Given the description of an element on the screen output the (x, y) to click on. 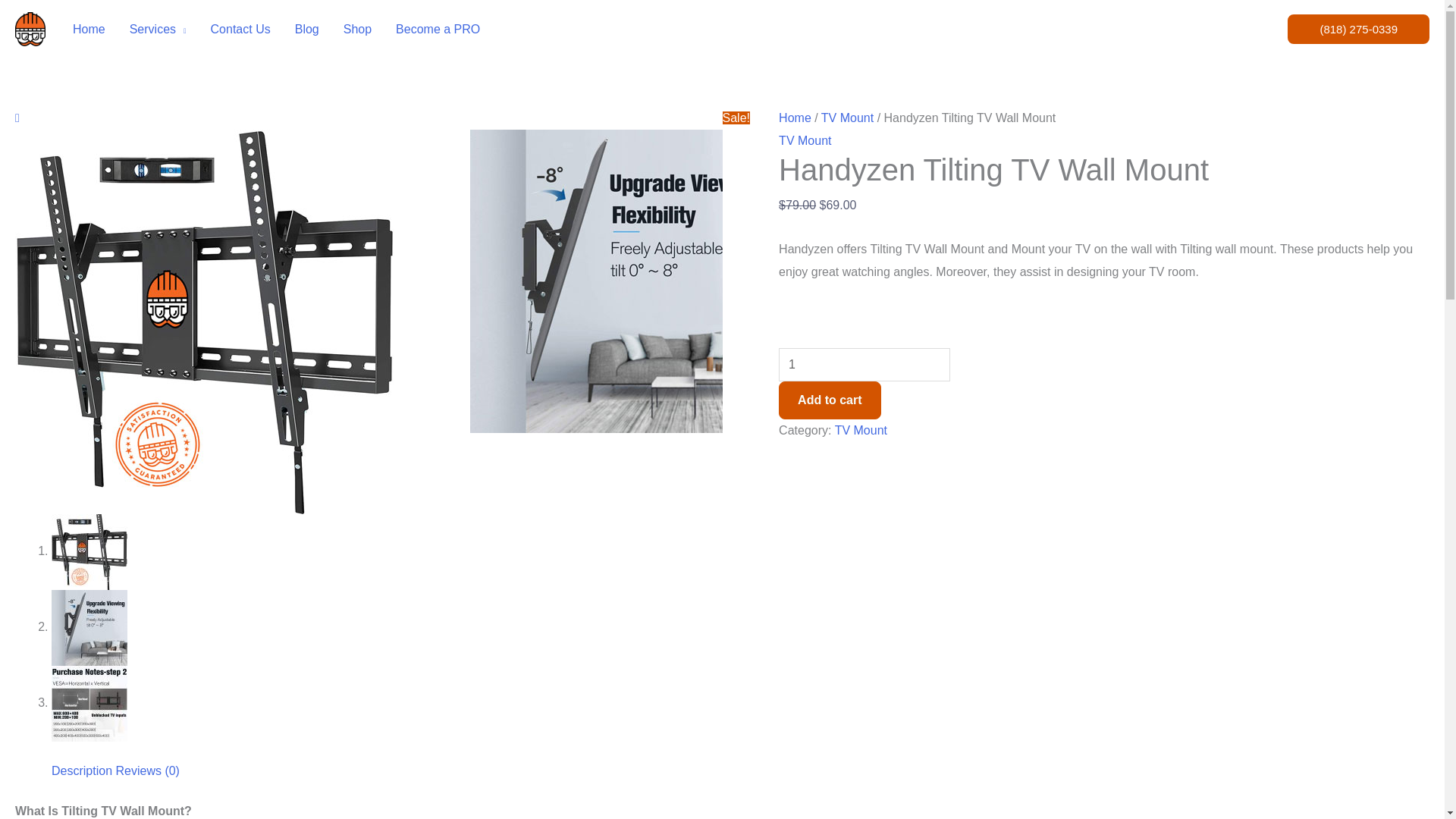
Blog (306, 29)
Services (157, 29)
Shop (357, 29)
Home (89, 29)
Handyzen-Tilting-TV-Wall-Mount-1 (621, 281)
1 (864, 364)
Become a PRO (438, 29)
Contact Us (240, 29)
